Given the description of an element on the screen output the (x, y) to click on. 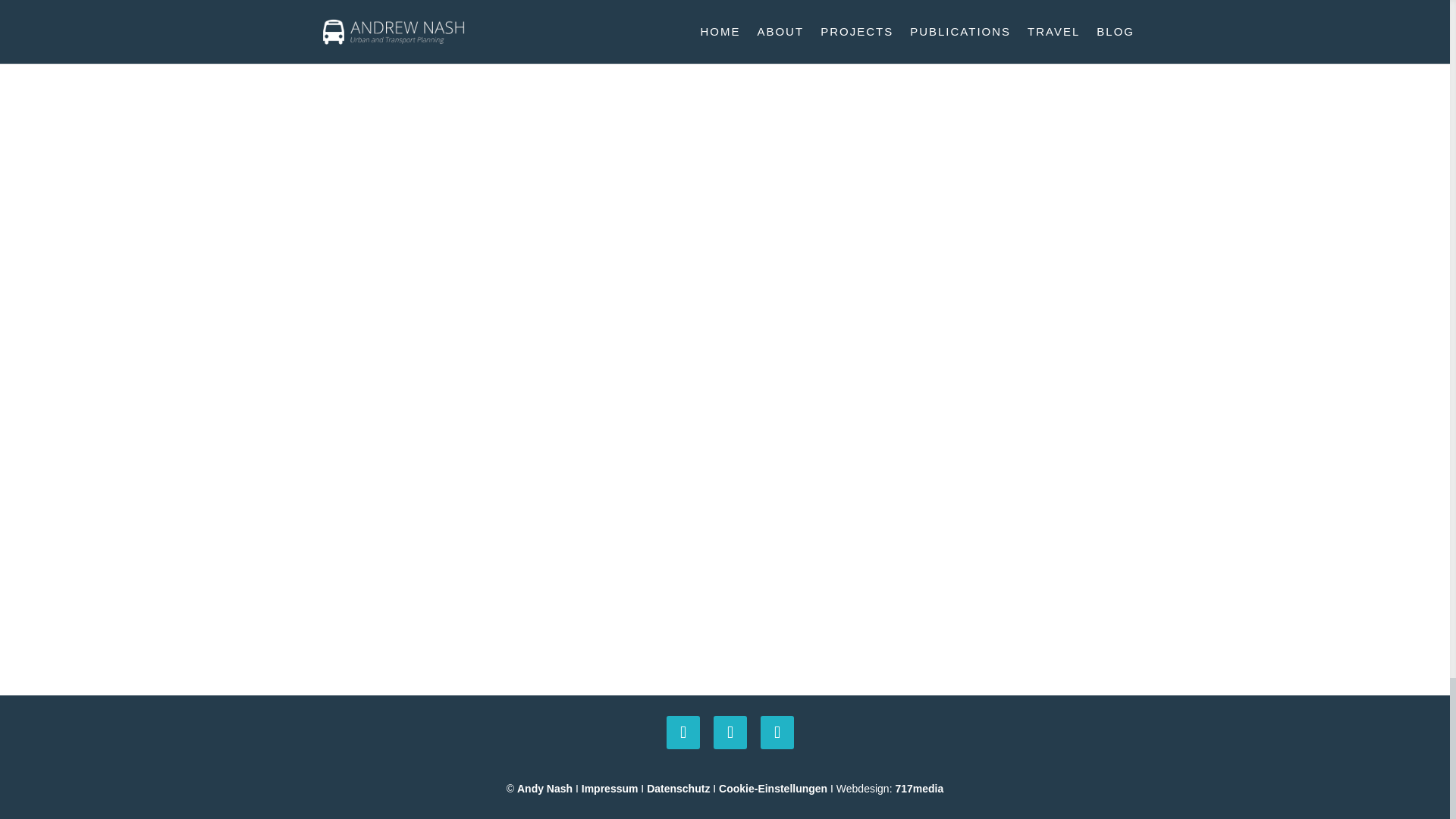
Follow on Flickr (776, 732)
Follow on X (683, 732)
Follow on Youtube (729, 732)
